Given the description of an element on the screen output the (x, y) to click on. 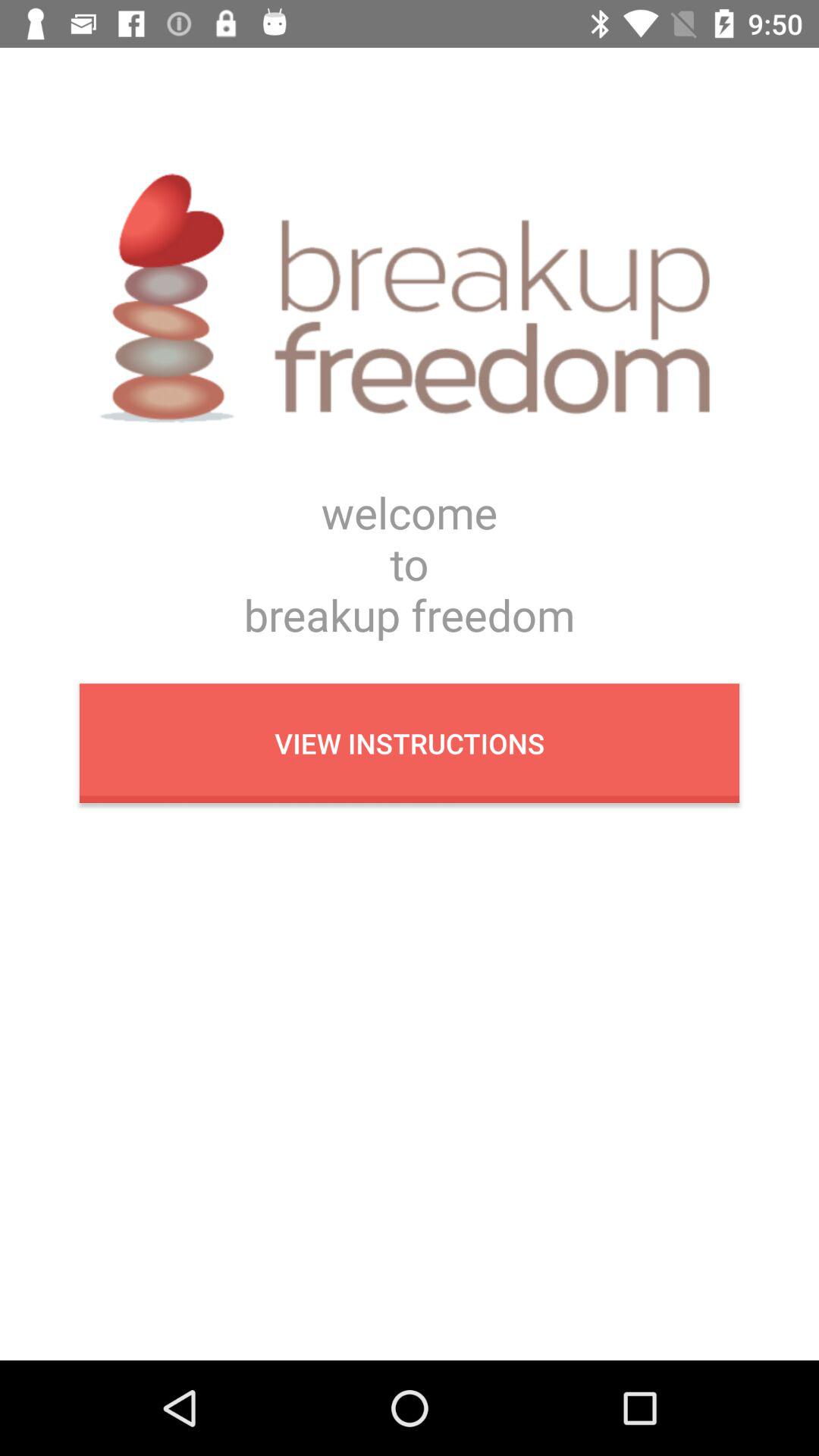
swipe until the view instructions button (409, 743)
